Given the description of an element on the screen output the (x, y) to click on. 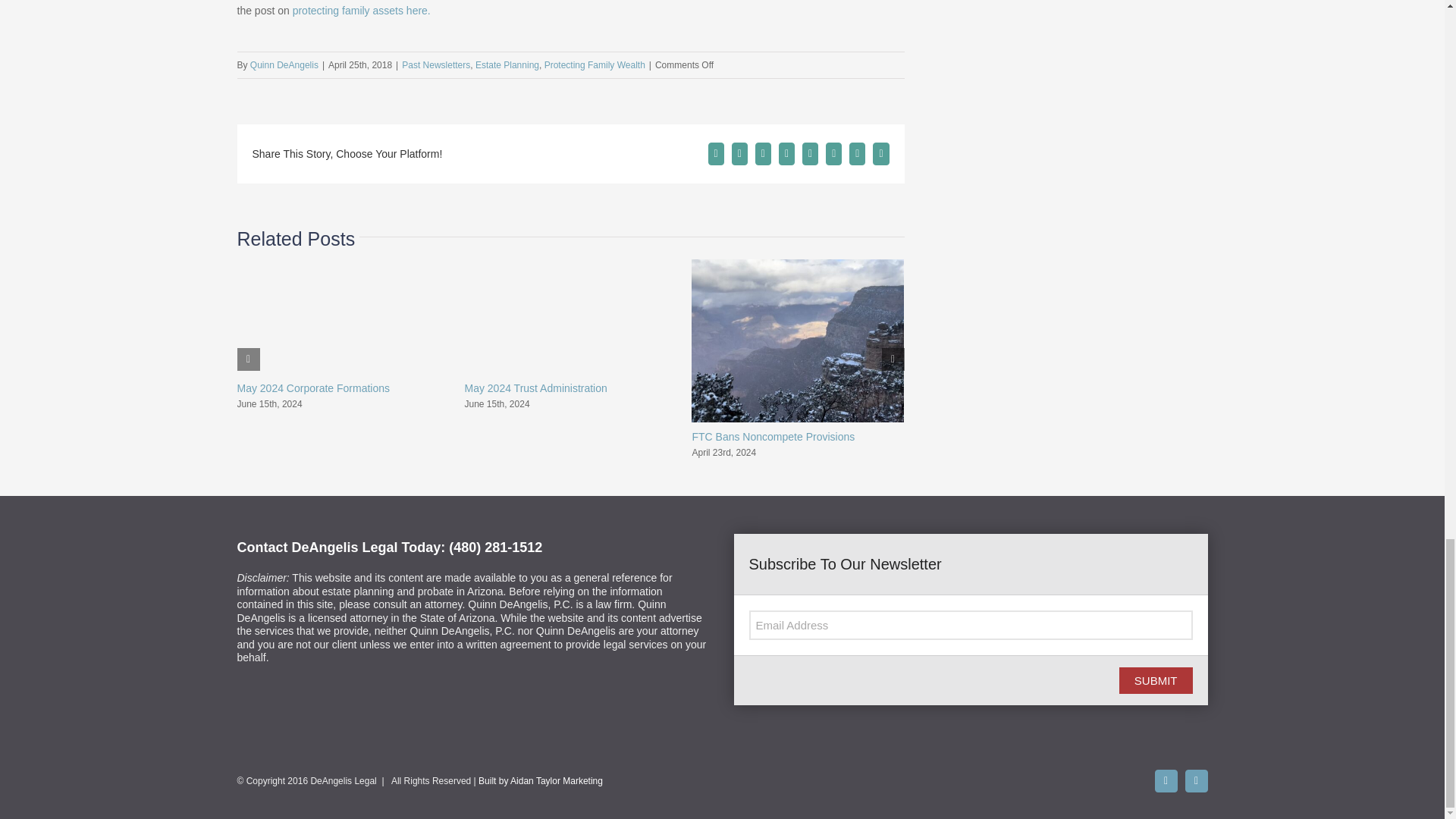
May 2024 Corporate Formations (312, 387)
Posts by Quinn DeAngelis (284, 64)
May 2024 Trust Administration (535, 387)
FTC Bans Noncompete Provisions (772, 436)
